Given the description of an element on the screen output the (x, y) to click on. 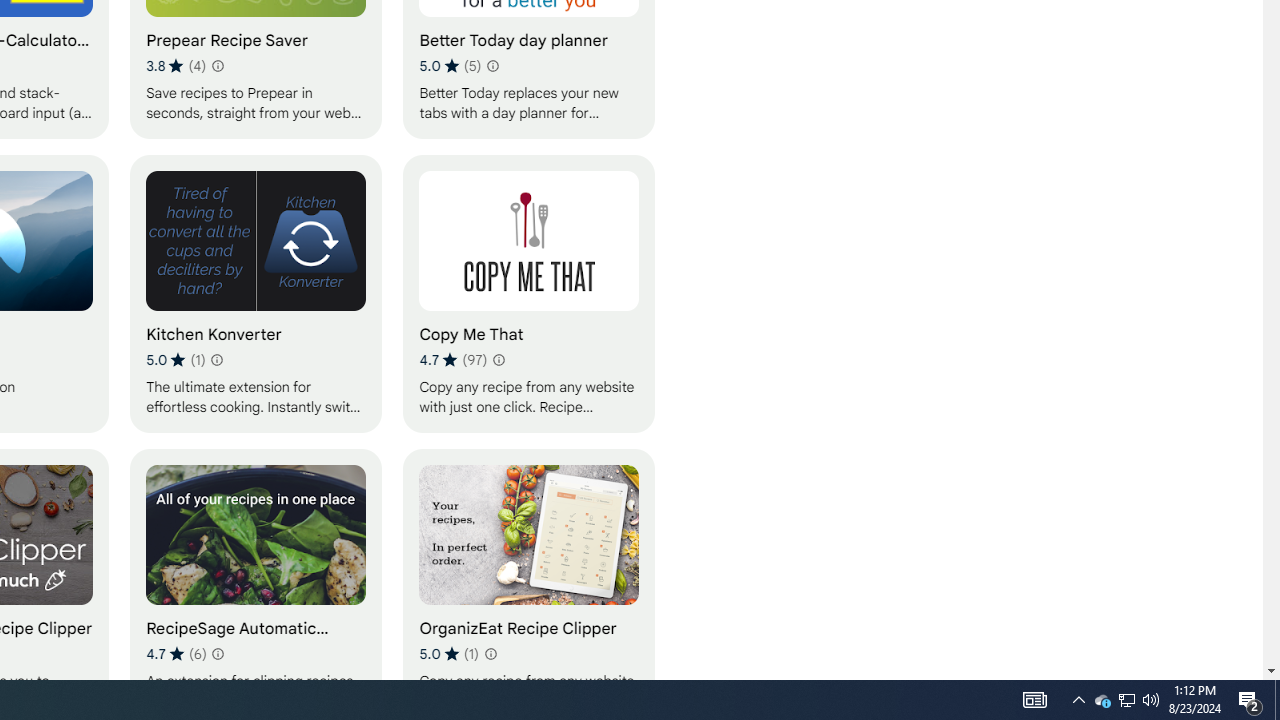
Learn more about results and reviews "Copy Me That" (498, 359)
Average rating 4.7 out of 5 stars. 97 ratings. (452, 359)
Copy Me That (529, 293)
Learn more about results and reviews "Kitchen Konverter" (216, 359)
Average rating 5 out of 5 stars. 1 rating. (448, 653)
Average rating 4.7 out of 5 stars. 6 ratings. (176, 653)
Average rating 3.8 out of 5 stars. 4 ratings. (176, 66)
Kitchen Konverter (256, 293)
Learn more about results and reviews "Prepear Recipe Saver" (216, 65)
Average rating 5 out of 5 stars. 5 ratings. (450, 66)
